Given the description of an element on the screen output the (x, y) to click on. 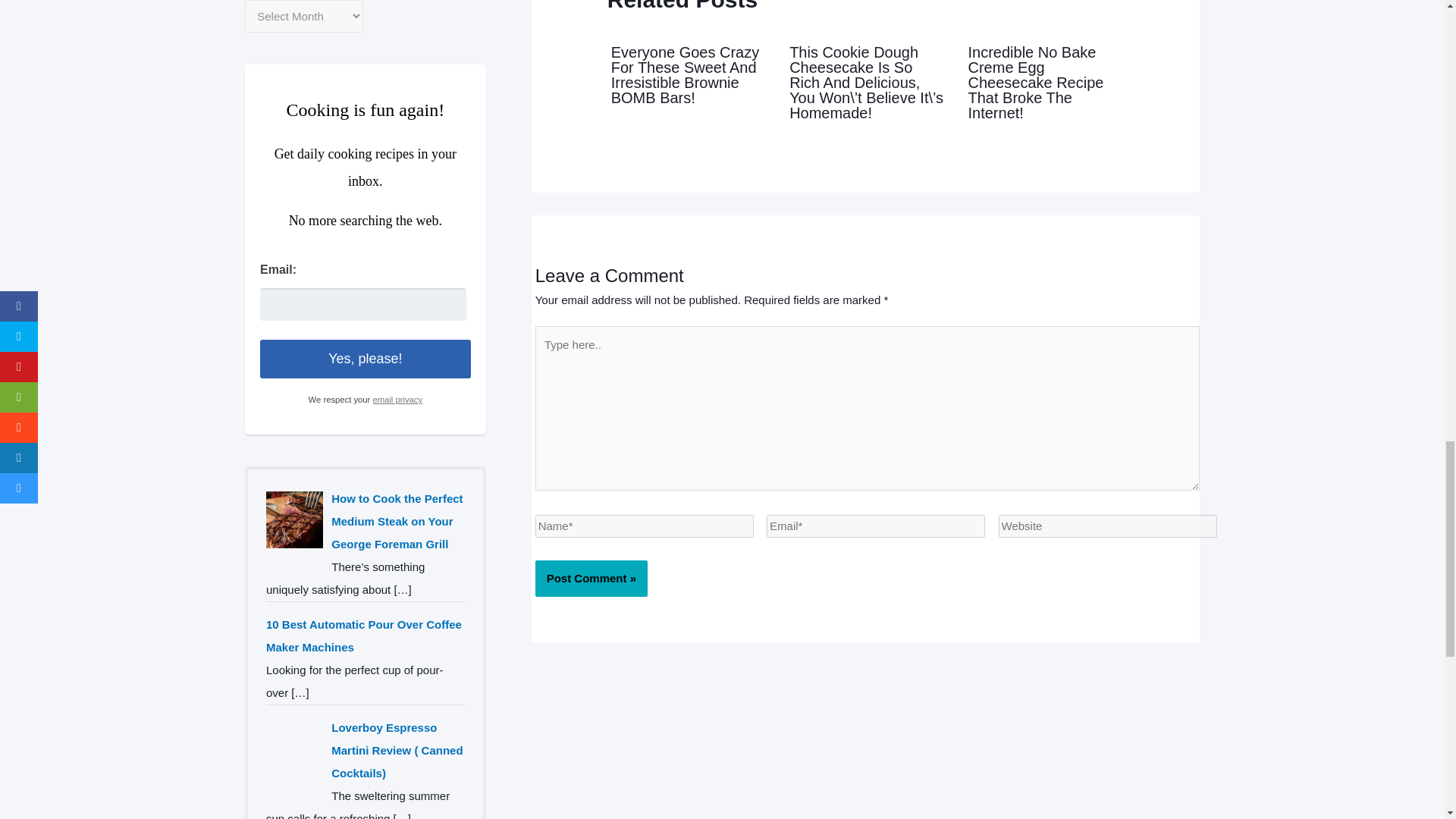
Yes, please! (365, 358)
Privacy Policy (397, 399)
